Given the description of an element on the screen output the (x, y) to click on. 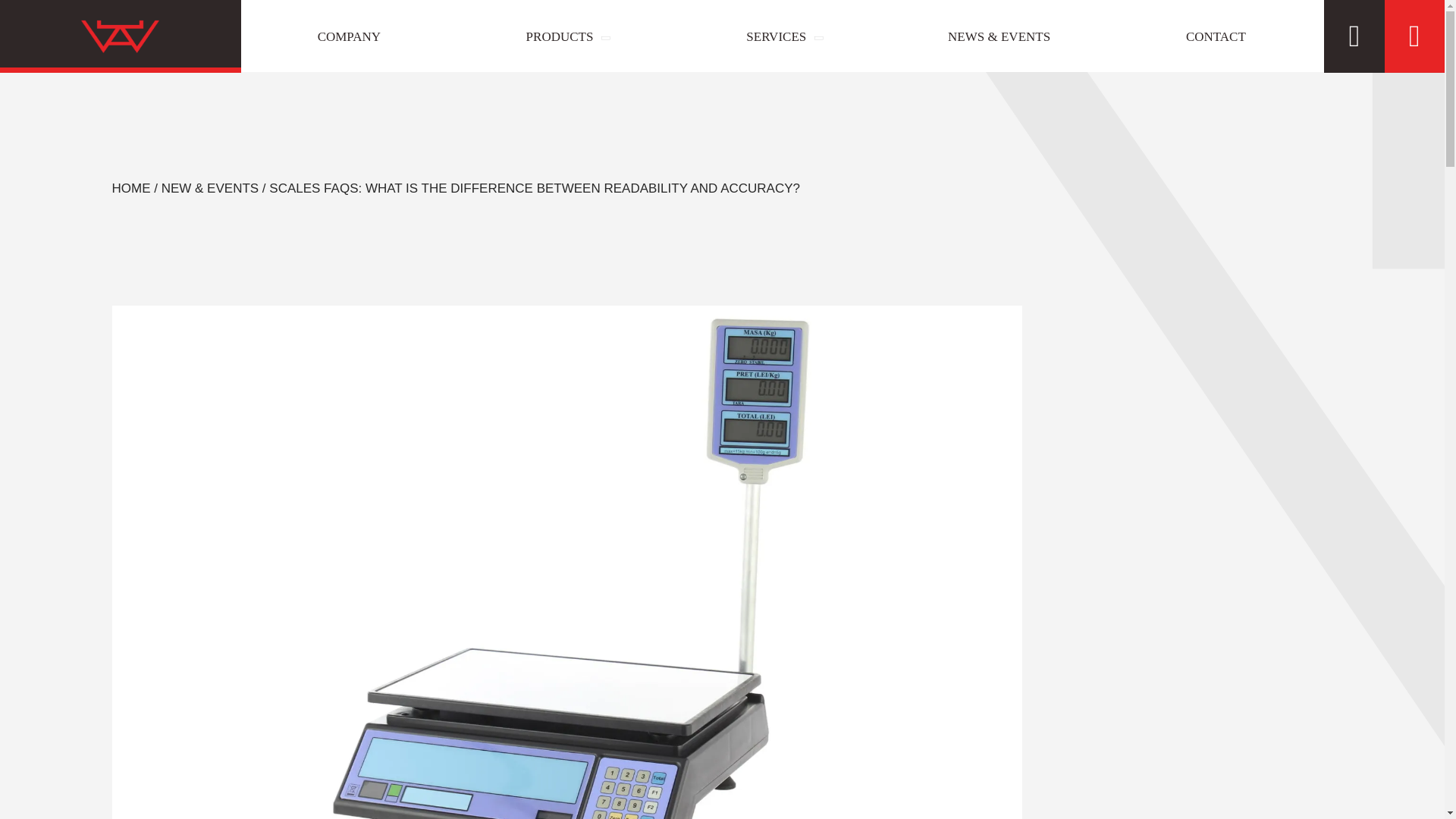
PRODUCTS (565, 36)
CONTACT (1214, 36)
COMPANY (349, 36)
SERVICES (782, 36)
